Given the description of an element on the screen output the (x, y) to click on. 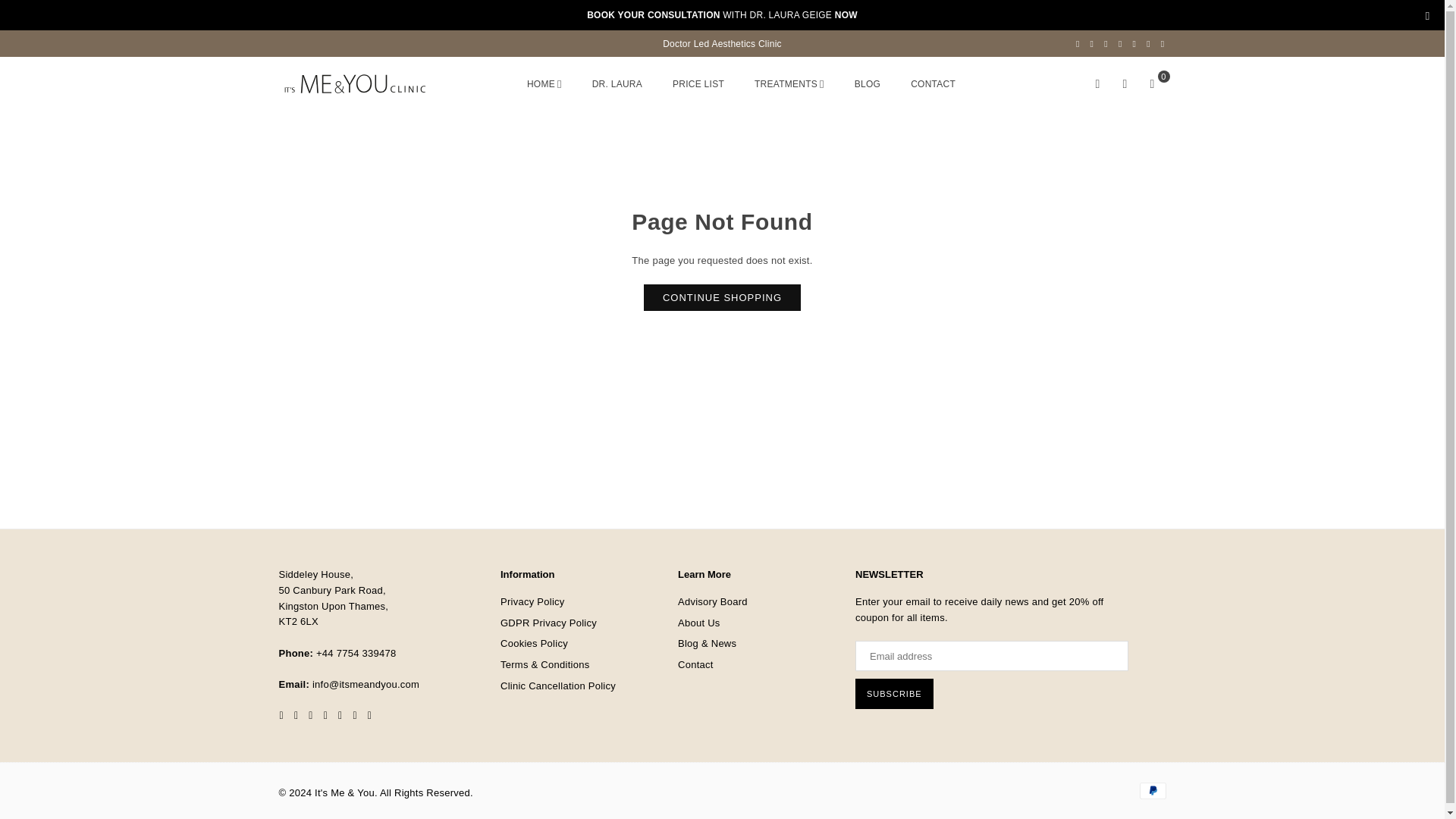
Whatsapp (1163, 43)
TREATMENTS (788, 84)
TikTok (1148, 43)
DR. LAURA (616, 84)
Cart (1152, 83)
Twitter (1091, 43)
Pinterest (1106, 43)
Search (1098, 83)
HOME (544, 84)
Facebook (1077, 43)
